Given the description of an element on the screen output the (x, y) to click on. 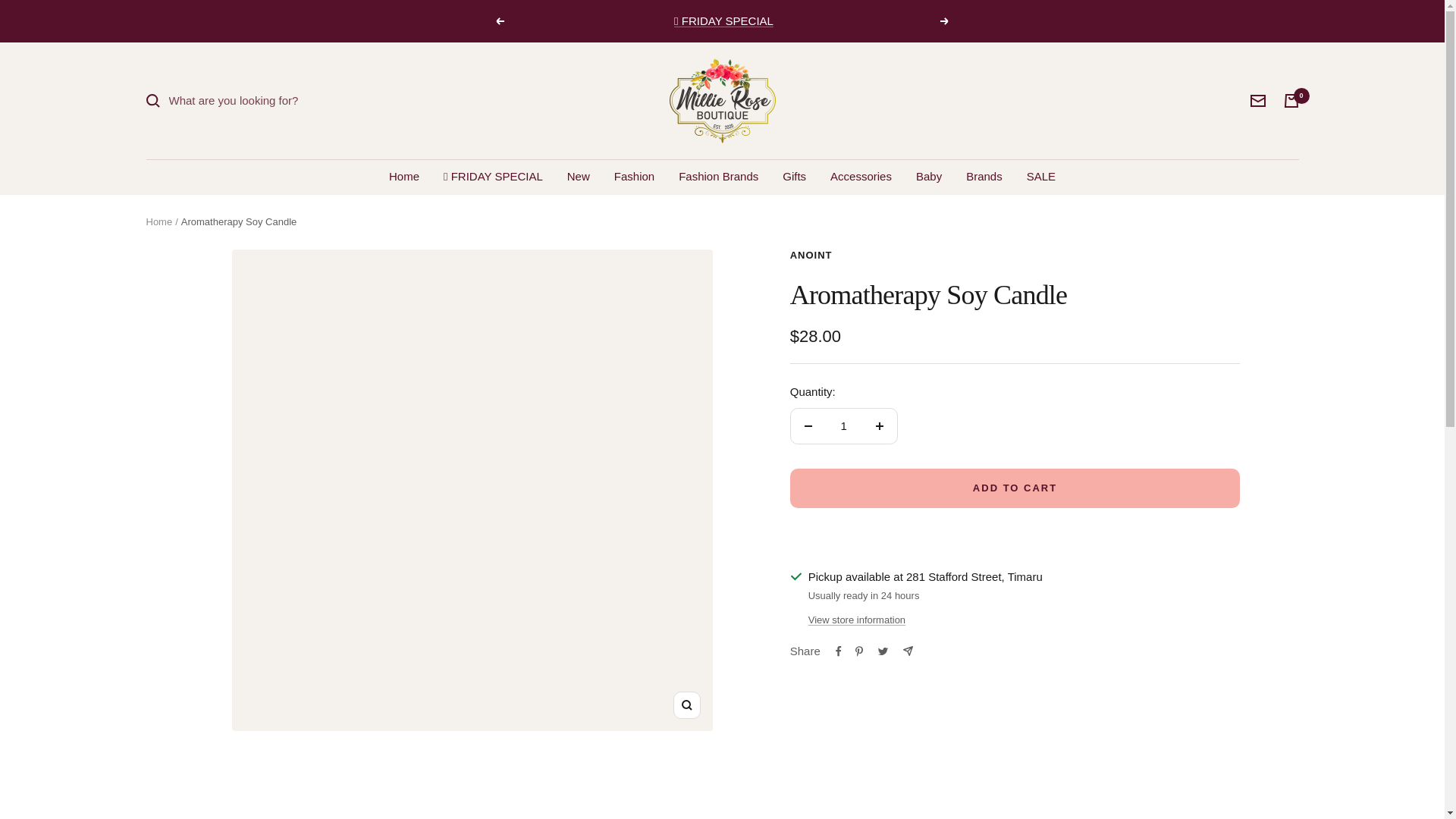
Home (403, 176)
New (578, 176)
Baby (928, 176)
Brands (984, 176)
Gifts (794, 176)
Newsletter (1257, 101)
Accessories (860, 176)
1 (843, 425)
Fashion Brands (718, 176)
Next (944, 21)
